Given the description of an element on the screen output the (x, y) to click on. 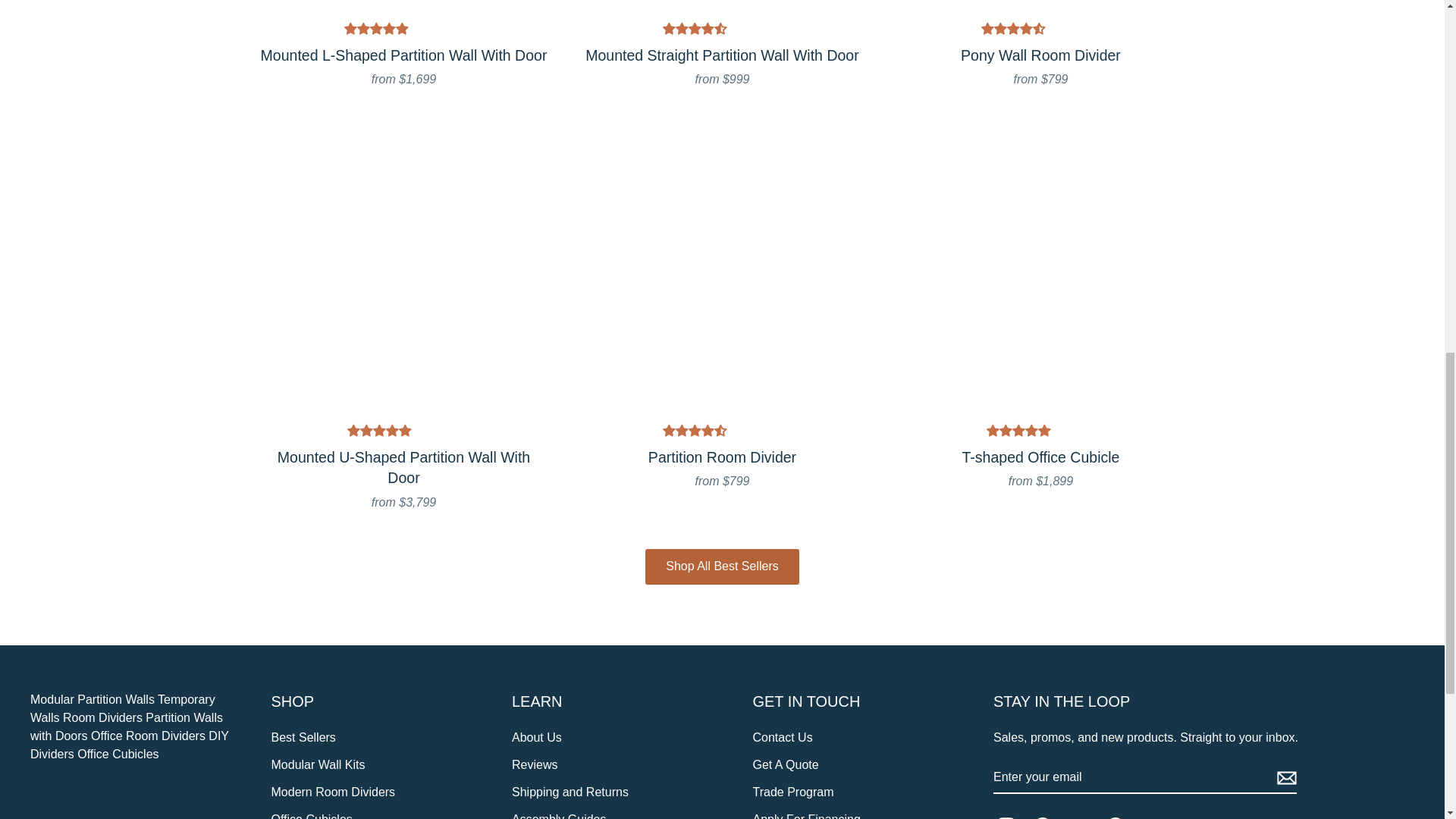
Diyversify on Pinterest (1120, 812)
Diyversify on Instagram (1011, 812)
Diyversify on Twitter (1084, 812)
Shop All Best Sellers (722, 566)
MENU (162, 46)
Diyversify on Facebook (1047, 812)
